Given the description of an element on the screen output the (x, y) to click on. 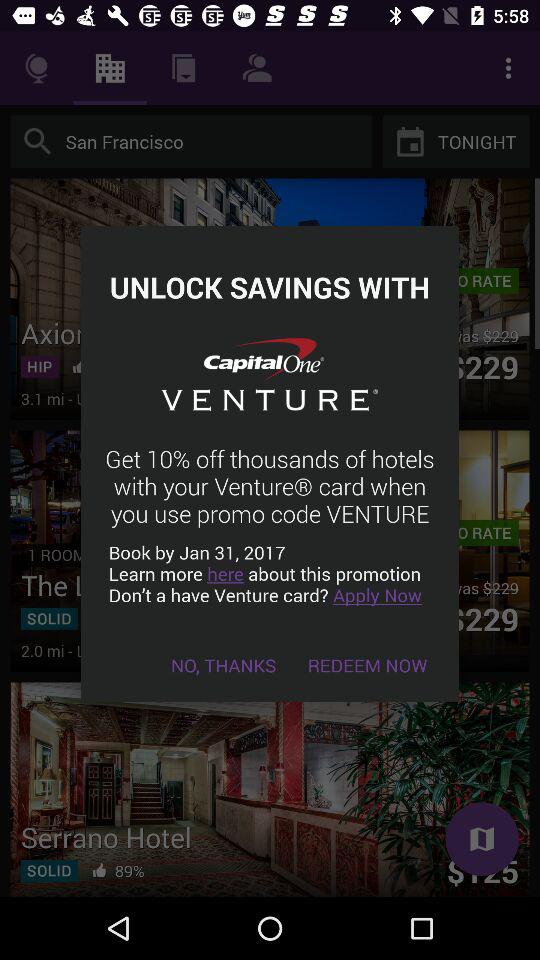
click the building logo (109, 67)
select the text solid (49, 618)
select the bottom right symbol (482, 839)
select the calendar logo on the top right (409, 141)
click the 3 dot vertical symbol more option (508, 68)
